Given the description of an element on the screen output the (x, y) to click on. 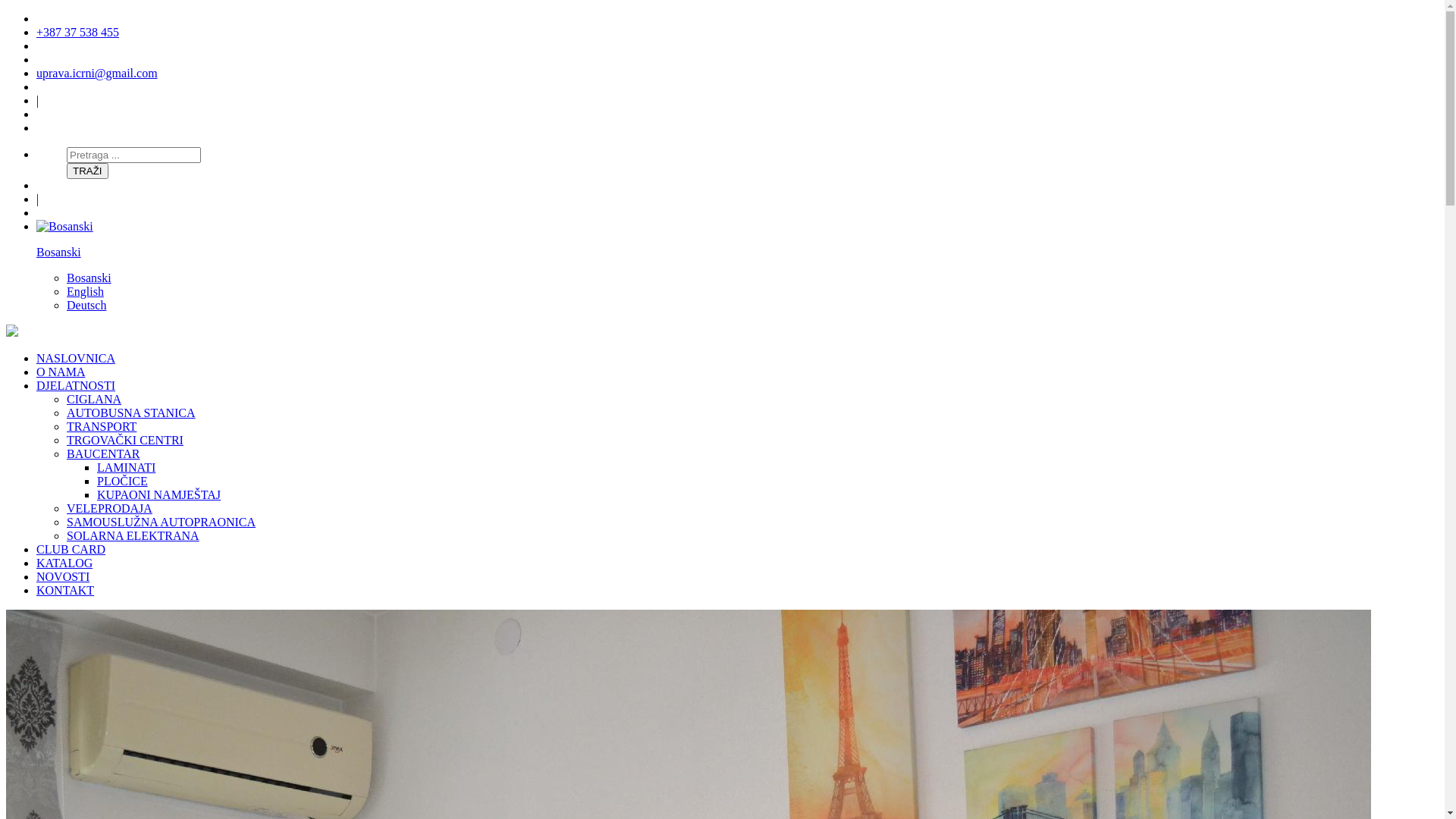
NASLOVNICA Element type: text (75, 357)
Bosanski Element type: text (737, 239)
CIGLANA Element type: text (93, 398)
Bosanski Element type: text (88, 277)
O NAMA Element type: text (60, 371)
DJELATNOSTI Element type: text (75, 385)
uprava.icrni@gmail.com Element type: text (96, 72)
English Element type: text (84, 291)
KONTAKT Element type: text (65, 589)
KATALOG Element type: text (64, 562)
+387 37 538 455 Element type: text (77, 31)
SOLARNA ELEKTRANA Element type: text (132, 535)
TRANSPORT Element type: text (101, 426)
LAMINATI Element type: text (126, 467)
VELEPRODAJA Element type: text (109, 508)
CLUB CARD Element type: text (70, 548)
AUTOBUSNA STANICA Element type: text (130, 412)
Deutsch Element type: text (86, 304)
NOVOSTI Element type: text (62, 576)
BAUCENTAR Element type: text (103, 453)
